Given the description of an element on the screen output the (x, y) to click on. 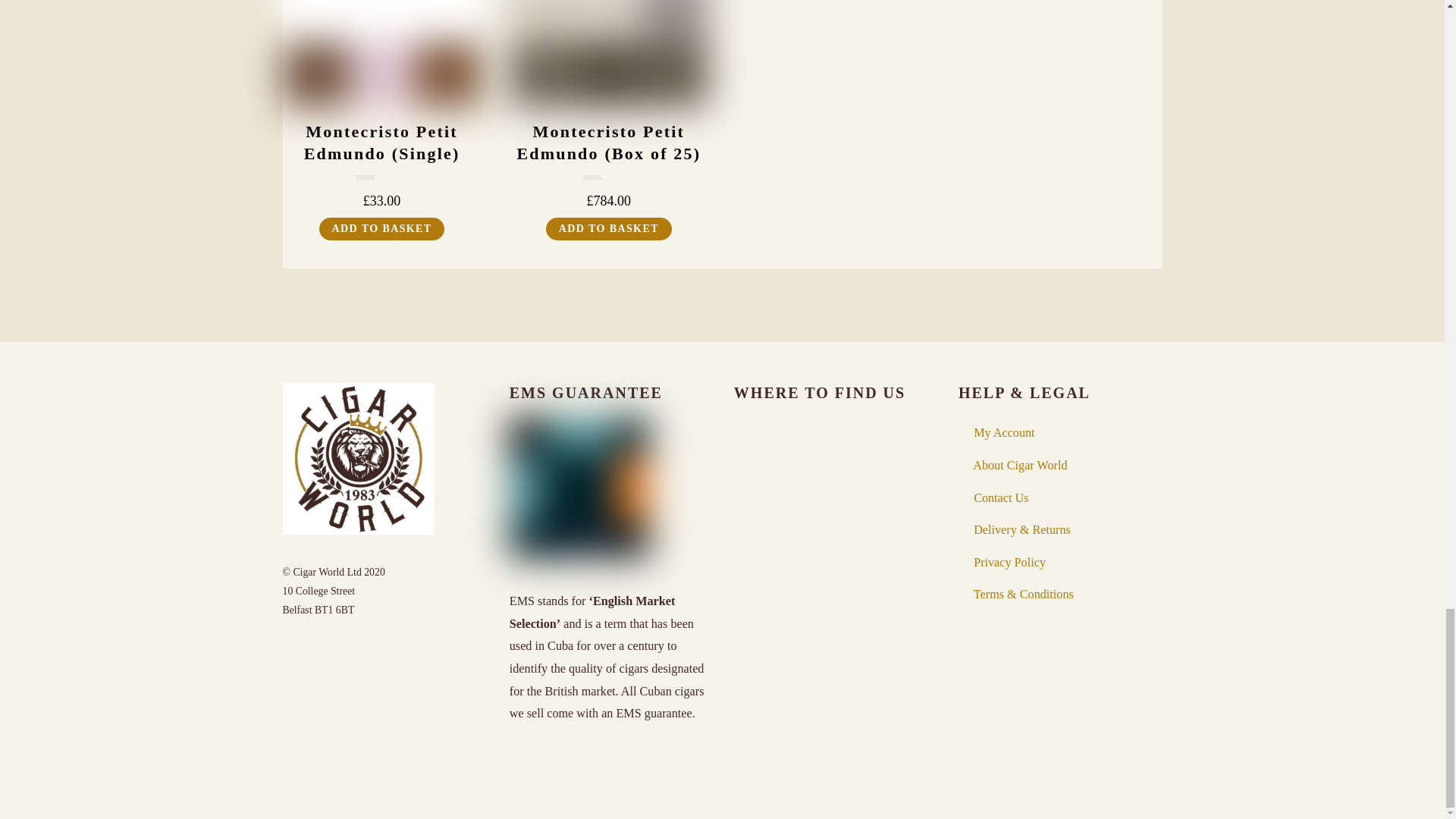
montecristo-petit-edmundo-25 (608, 53)
montecristo-petit-edmundo-single (381, 53)
Cigar World Ltd (357, 527)
